Given the description of an element on the screen output the (x, y) to click on. 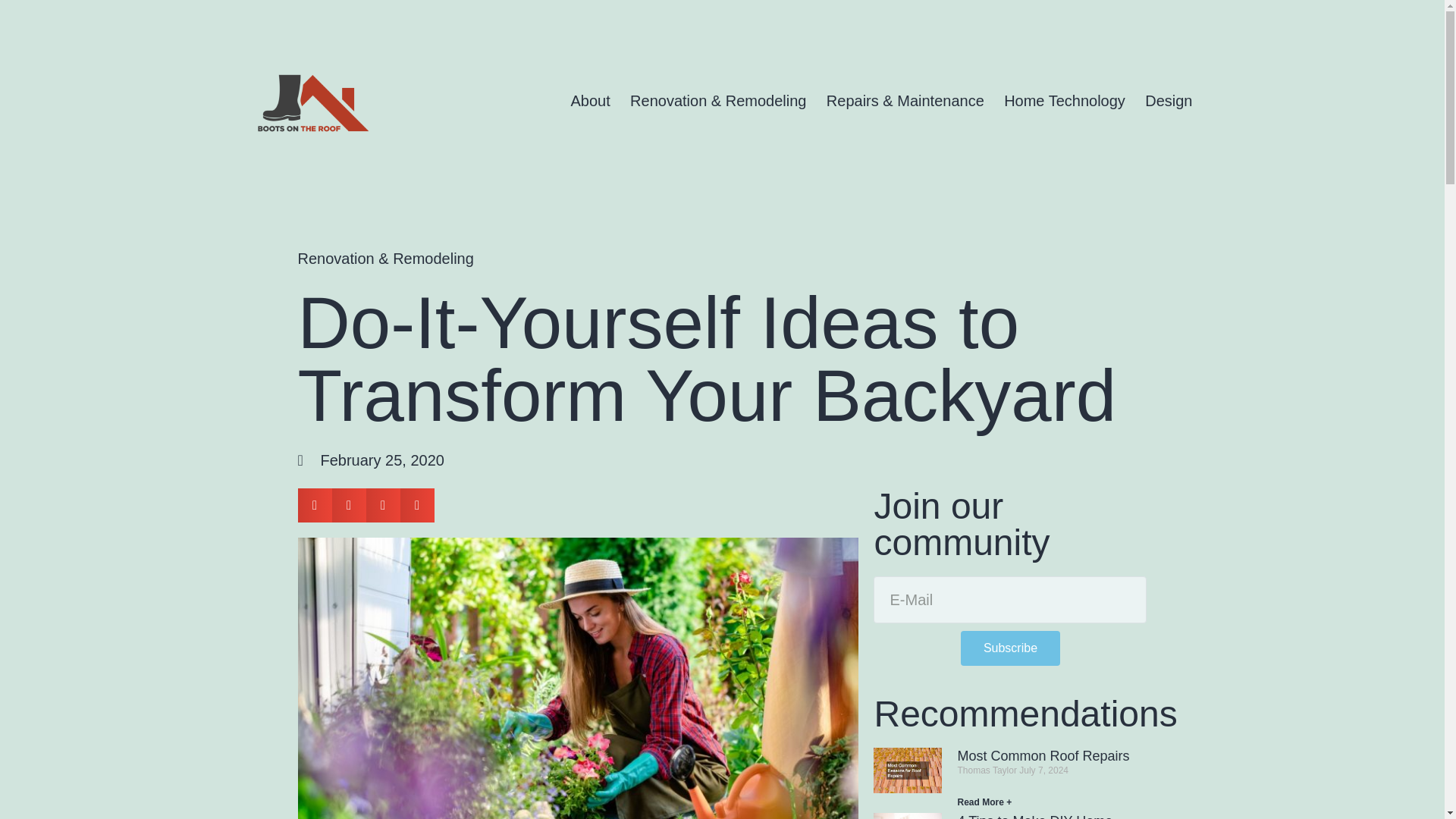
February 25, 2020 (370, 460)
Home Technology (1064, 99)
Most Common Roof Repairs (1042, 755)
About (590, 99)
Subscribe (1009, 647)
Design (1168, 99)
